Given the description of an element on the screen output the (x, y) to click on. 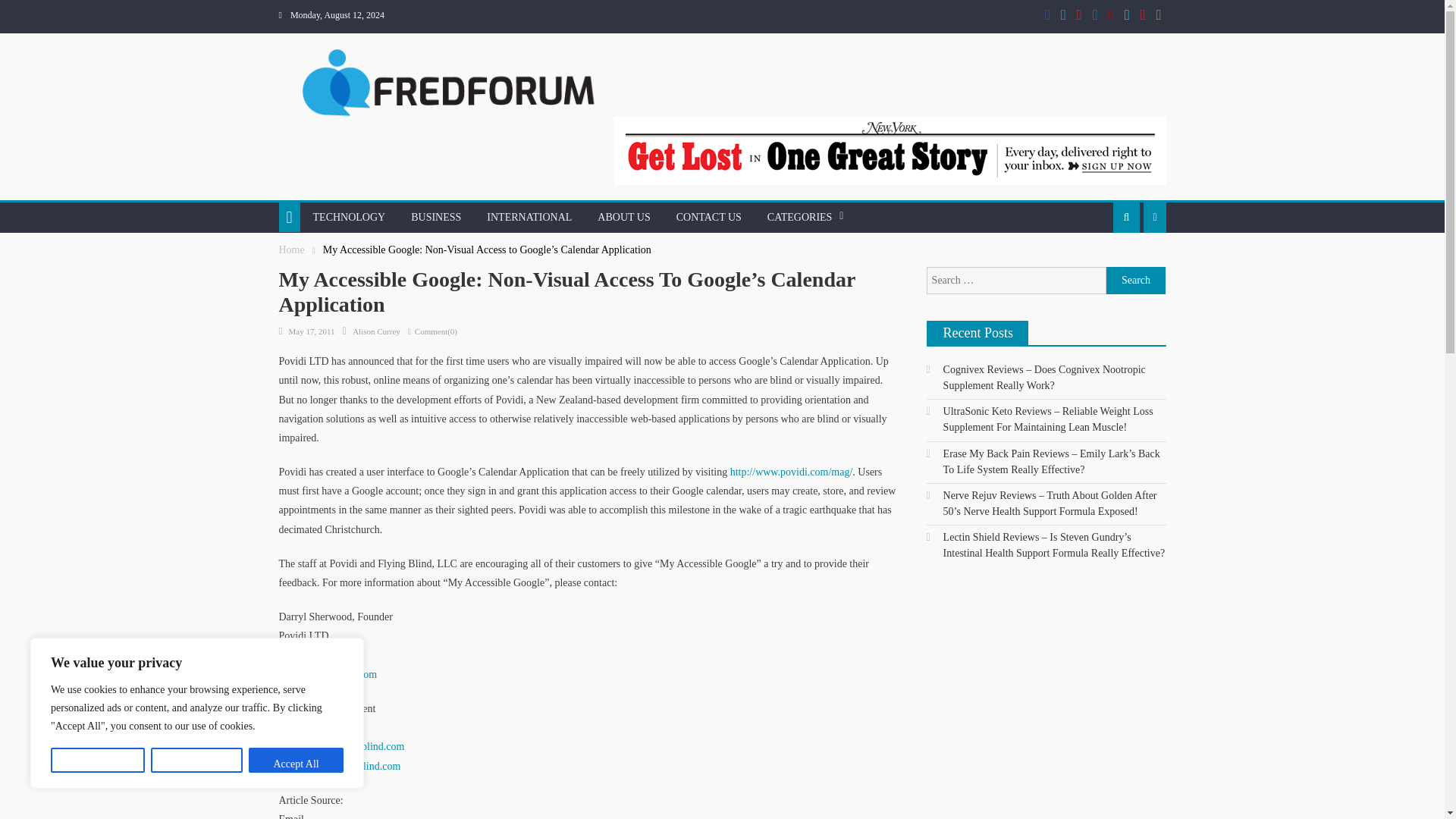
CATEGORIES (799, 217)
Reject All (197, 760)
BUSINESS (434, 217)
Customize (97, 760)
TECHNOLOGY (349, 217)
ABOUT US (623, 217)
Search (1136, 280)
Search (1095, 280)
INTERNATIONAL (529, 217)
Accept All (295, 760)
